Given the description of an element on the screen output the (x, y) to click on. 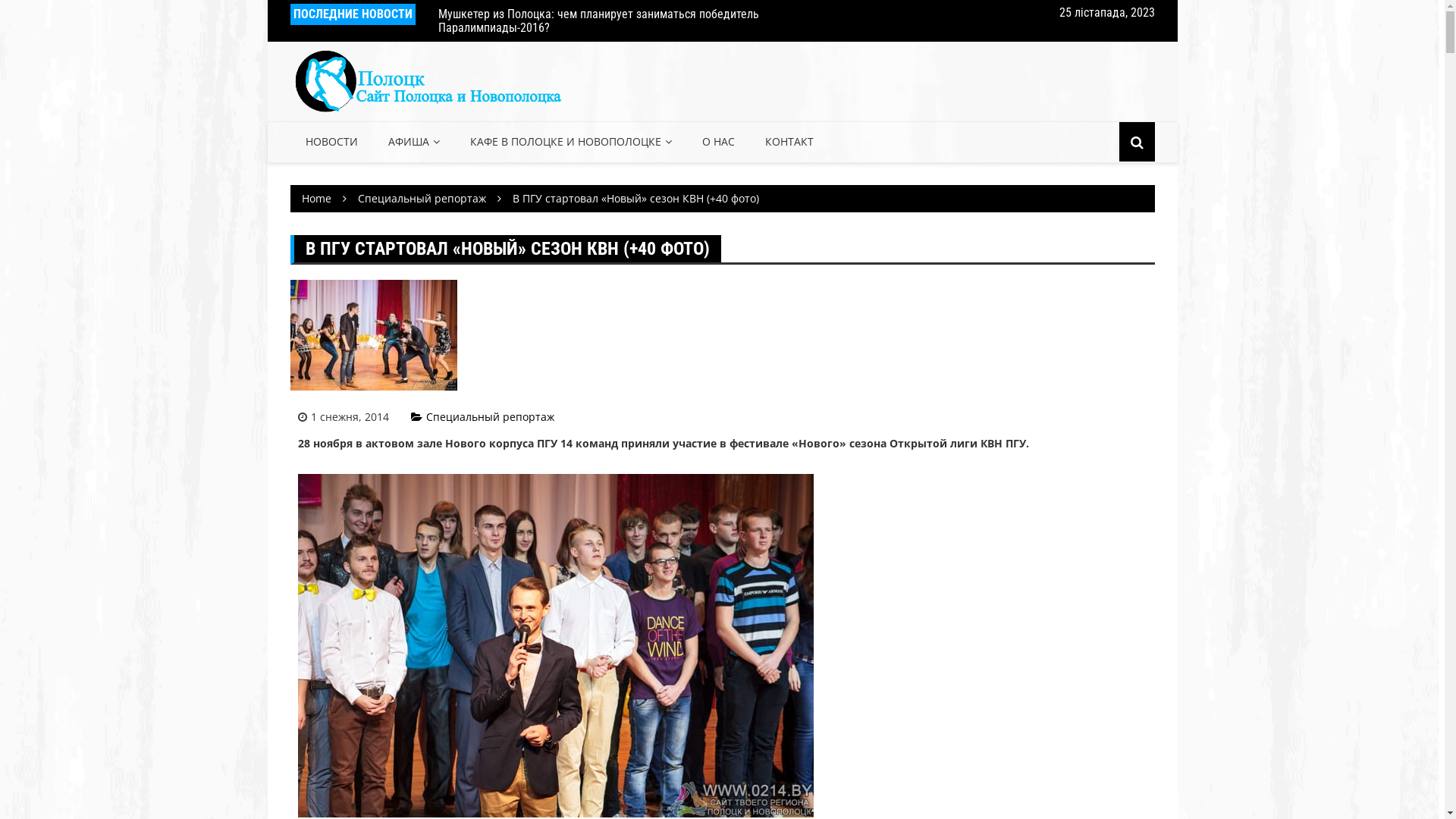
Home Element type: text (316, 198)
